Given the description of an element on the screen output the (x, y) to click on. 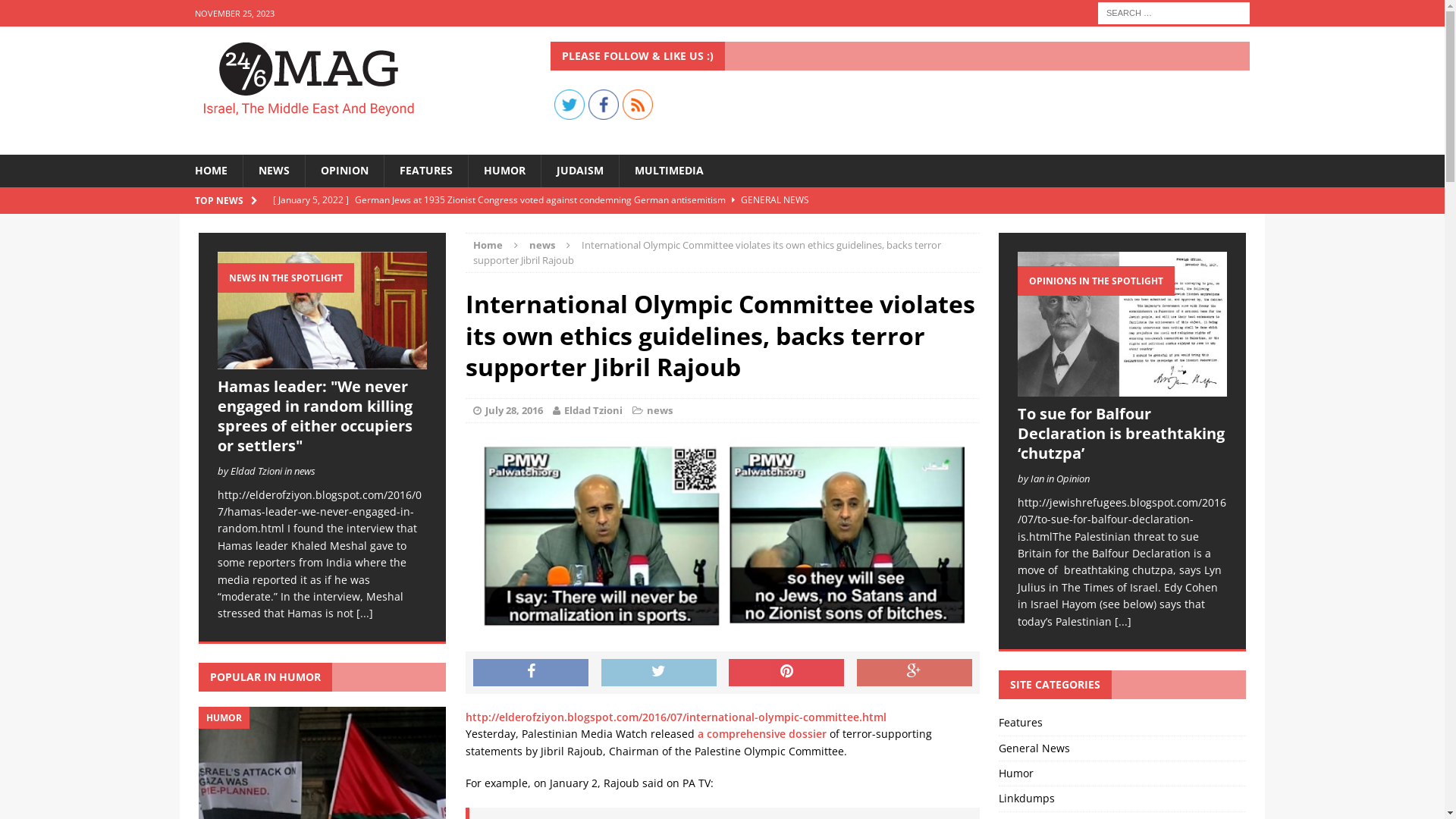
Pin This Post Element type: hover (786, 672)
General News Element type: text (1121, 748)
[...] Element type: text (364, 612)
Home Element type: text (487, 244)
HOME Element type: text (210, 170)
Share on Facebook Element type: hover (530, 672)
FEATURES Element type: text (425, 170)
a comprehensive dossier Element type: text (761, 733)
RSS Element type: hover (637, 104)
Eldad Tzioni Element type: text (593, 410)
JUDAISM Element type: text (579, 170)
Features Element type: text (1121, 724)
MULTIMEDIA Element type: text (668, 170)
OPINION Element type: text (343, 170)
Linkdumps Element type: text (1121, 798)
24/6 Magazine Element type: hover (351, 79)
Morocco ends duties of ambassadors to Algeria, Iran Element type: hover (575, 225)
POPULAR IN HUMOR Element type: text (265, 676)
news Element type: text (542, 244)
HUMOR Element type: text (503, 170)
Share on Google+ Element type: hover (914, 672)
Facebook Element type: hover (603, 104)
Twitter Element type: hover (569, 104)
July 28, 2016 Element type: text (513, 410)
rajoub1-0a2a27c24e9830d7cf59826a101f501cb33f2e07 Element type: hover (722, 537)
Search Element type: text (37, 11)
[...] Element type: text (1122, 621)
Tweet This Post Element type: hover (658, 672)
Humor Element type: text (1121, 773)
news Element type: text (659, 410)
NEWS Element type: text (273, 170)
